Given the description of an element on the screen output the (x, y) to click on. 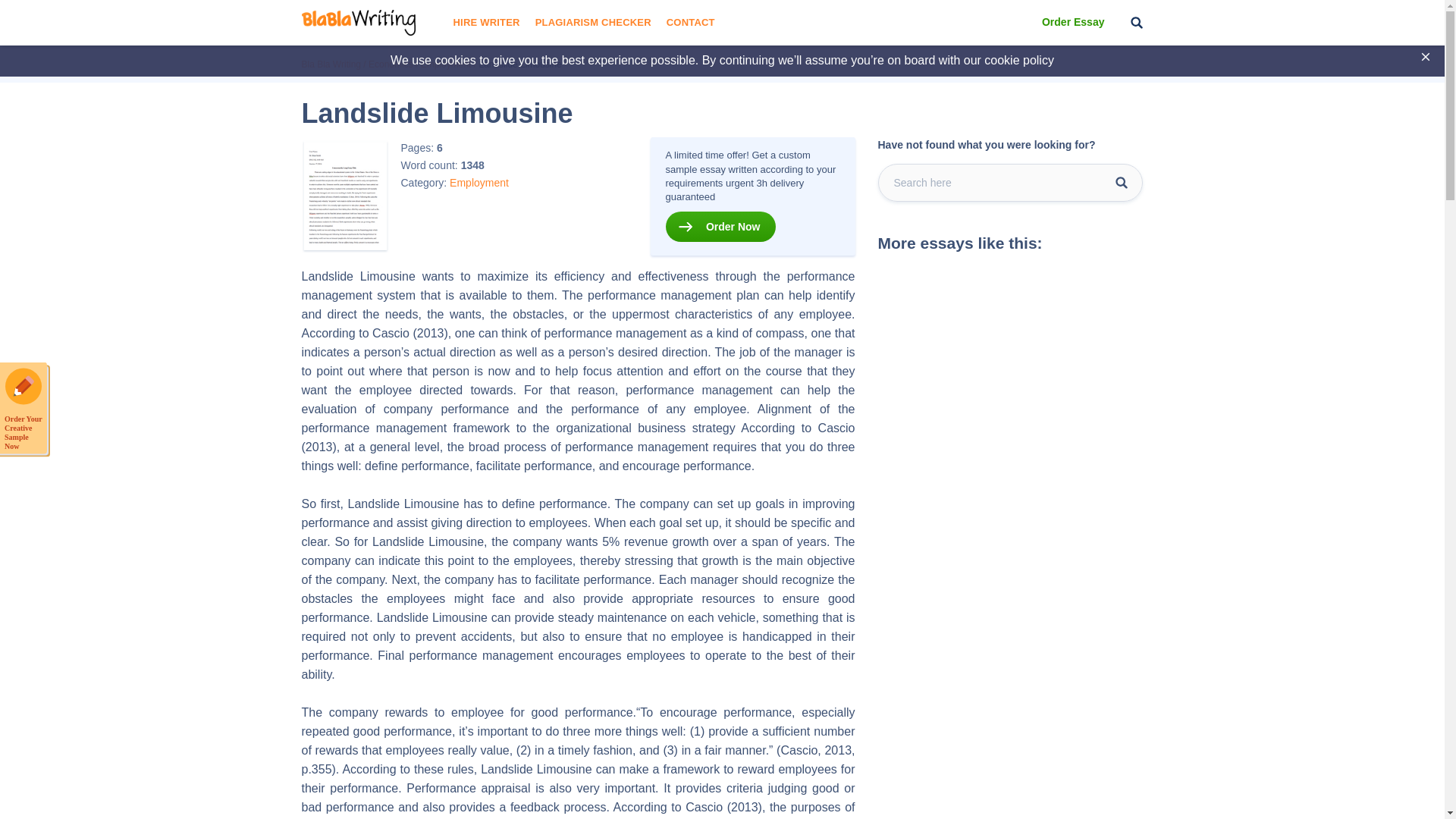
Employment (445, 63)
Employment. (445, 63)
Bla Bla Writing (331, 63)
CONTACT (690, 22)
Order Now (720, 226)
Order Essay (1073, 22)
PLAGIARISM CHECKER (592, 22)
Employment (478, 182)
cookie policy (1019, 60)
HIRE WRITER (485, 22)
Bla Bla Writing. (331, 63)
Economics (390, 63)
Economics. (390, 63)
